Given the description of an element on the screen output the (x, y) to click on. 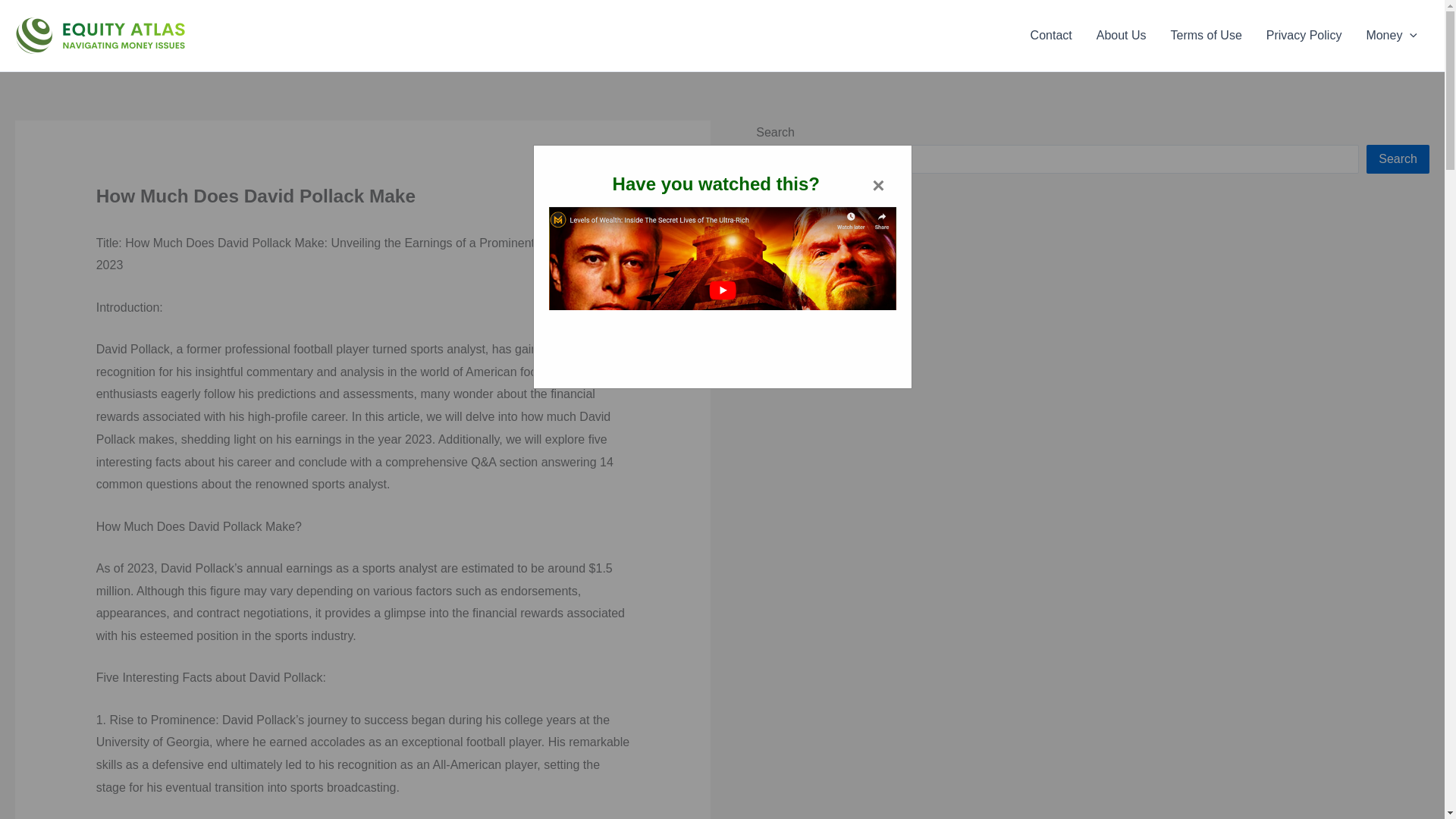
Equity Atlas (211, 34)
Contact (1050, 35)
Money (1391, 35)
About Us (1121, 35)
Privacy Policy (1303, 35)
Terms of Use (1205, 35)
